Given the description of an element on the screen output the (x, y) to click on. 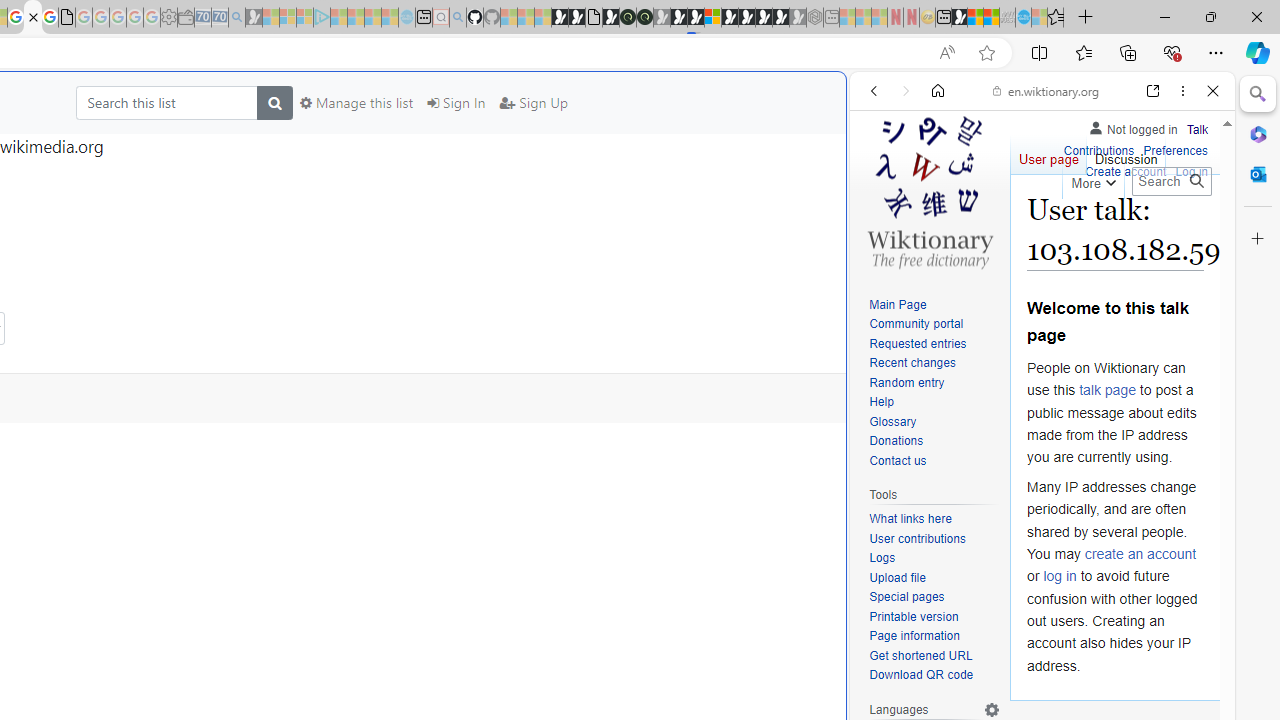
Donations (896, 441)
Get shortened URL (920, 655)
log in (1059, 576)
Log in (1191, 169)
User page (1048, 154)
Random entry (906, 382)
User page (1048, 154)
